Given the description of an element on the screen output the (x, y) to click on. 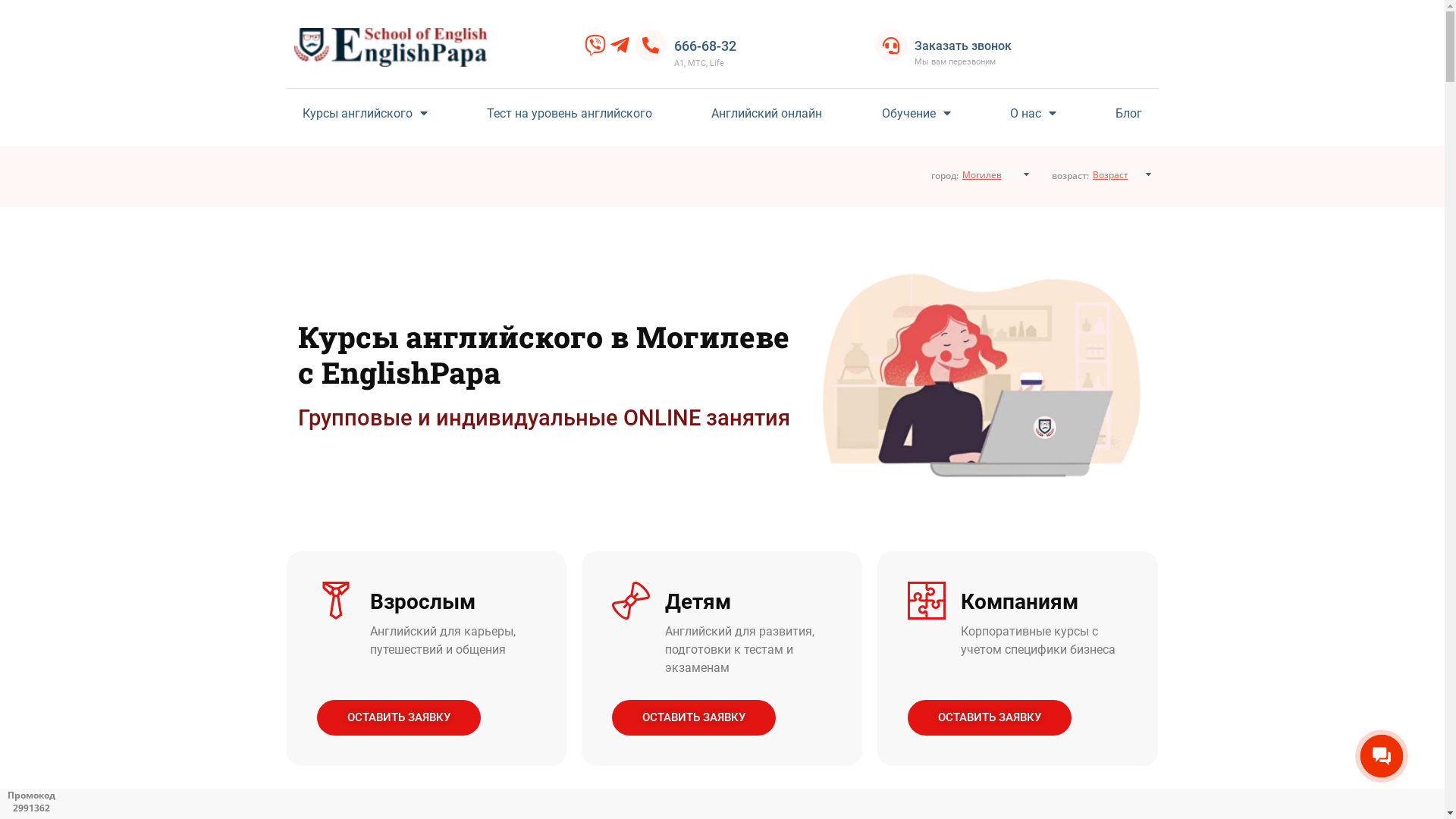
666-68-32 Element type: text (705, 45)
